Given the description of an element on the screen output the (x, y) to click on. 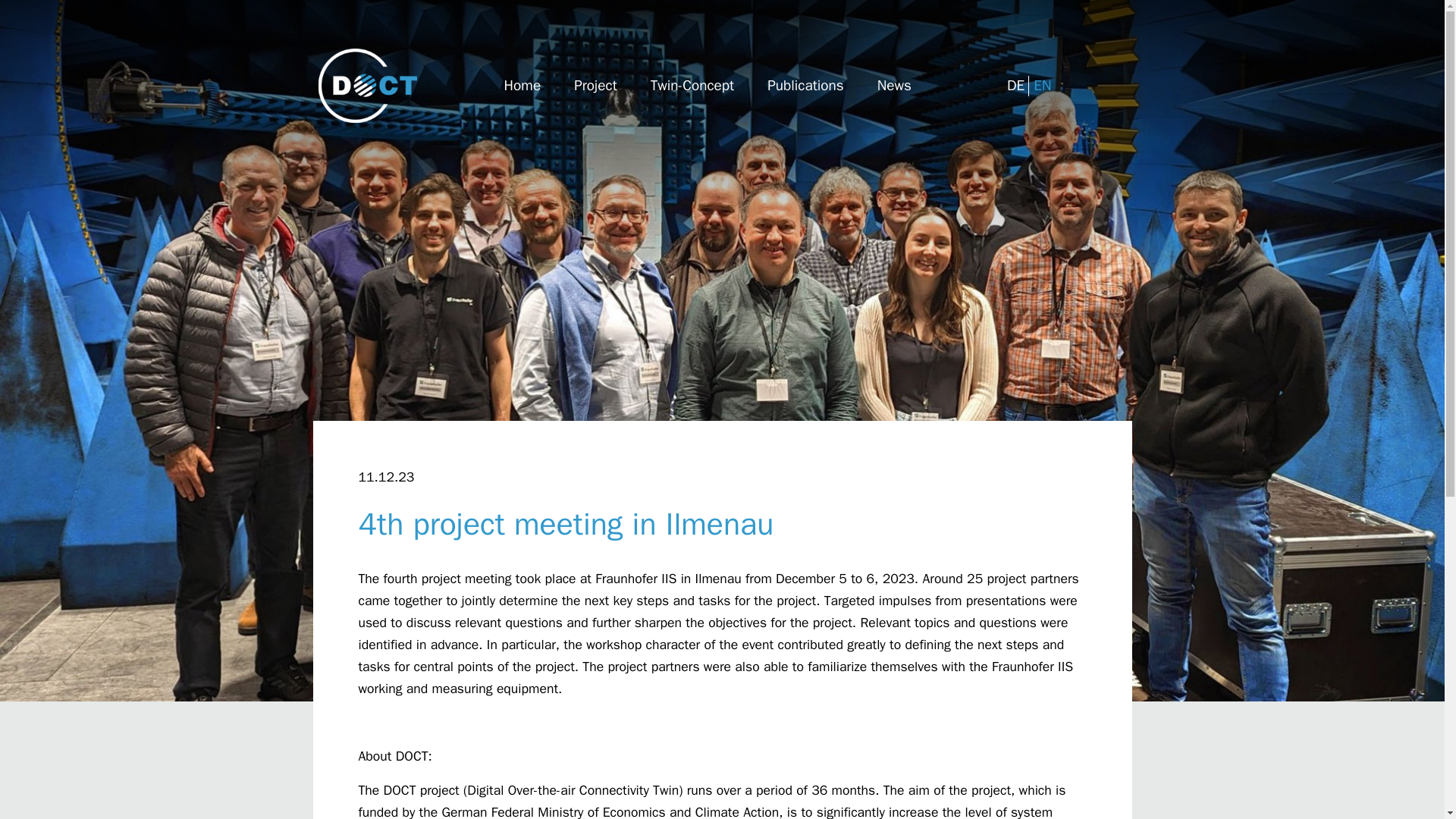
News (894, 85)
Publications (805, 85)
Twin-Concept (692, 85)
Home (522, 85)
Project (595, 85)
Publications (805, 85)
EN (1042, 85)
Home (522, 85)
DE (1016, 85)
Twin-Concept (692, 85)
